Given the description of an element on the screen output the (x, y) to click on. 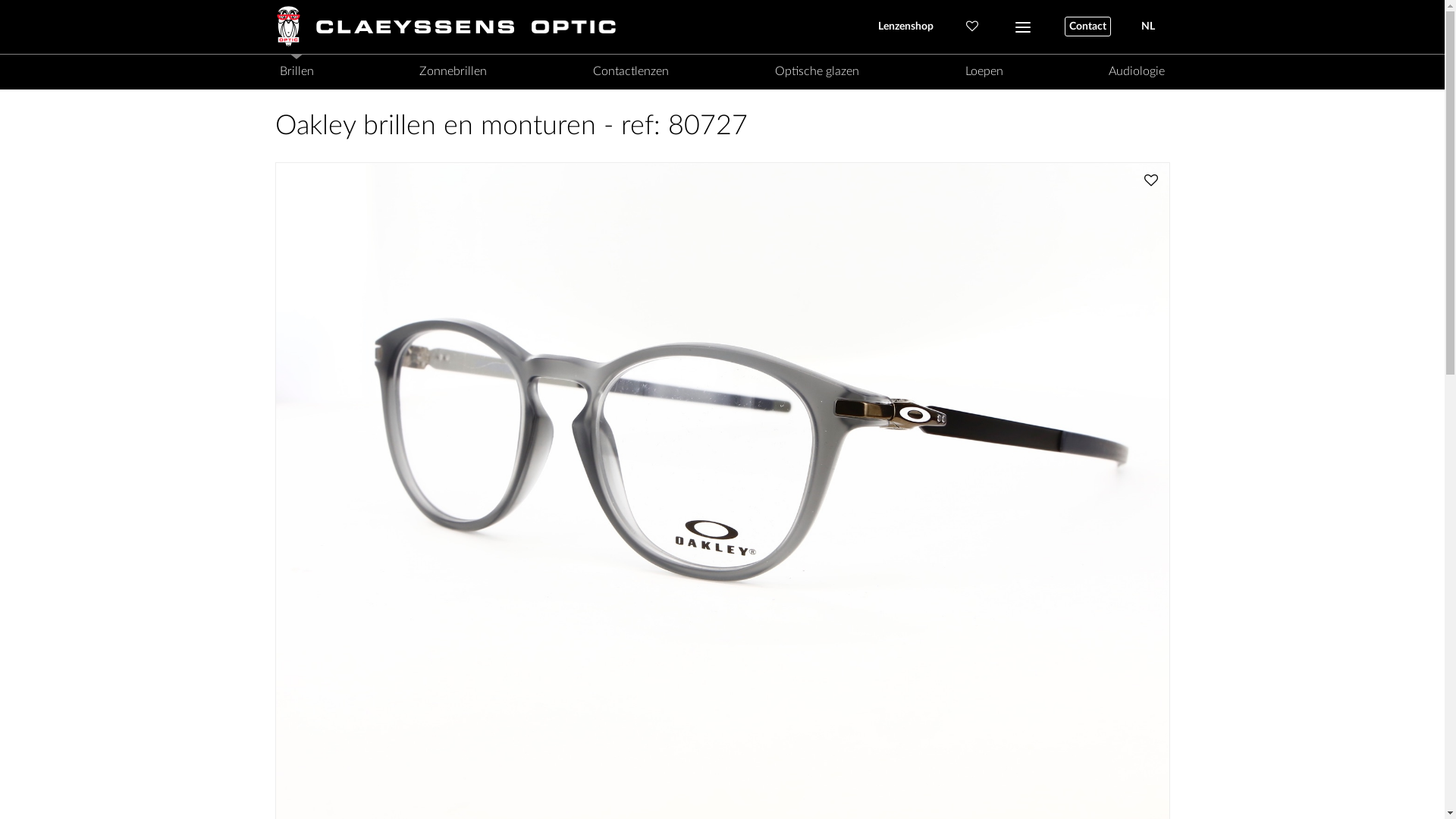
Lenzenshop Element type: text (905, 26)
Contact Element type: text (1087, 26)
Zonnebrillen Element type: text (452, 71)
Loepen Element type: text (983, 71)
Brillen Element type: text (295, 71)
Audiologie Element type: text (1136, 71)
Optische glazen Element type: text (816, 71)
Claeyssens Optic Element type: text (463, 26)
Contactlenzen Element type: text (630, 71)
